Given the description of an element on the screen output the (x, y) to click on. 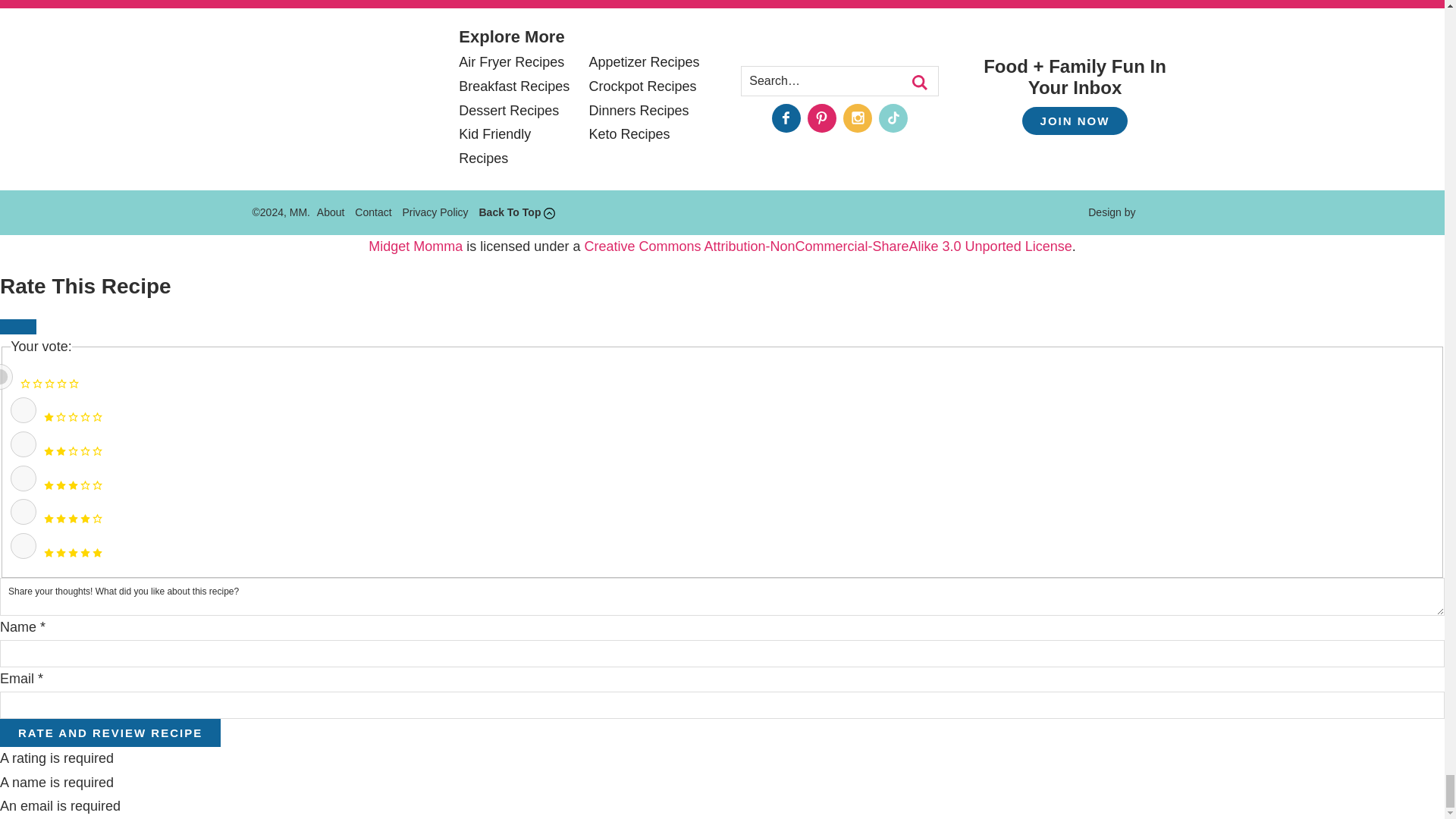
5 (23, 545)
Search for (839, 80)
3 (23, 478)
1 (23, 410)
4 (23, 511)
2 (23, 444)
